Given the description of an element on the screen output the (x, y) to click on. 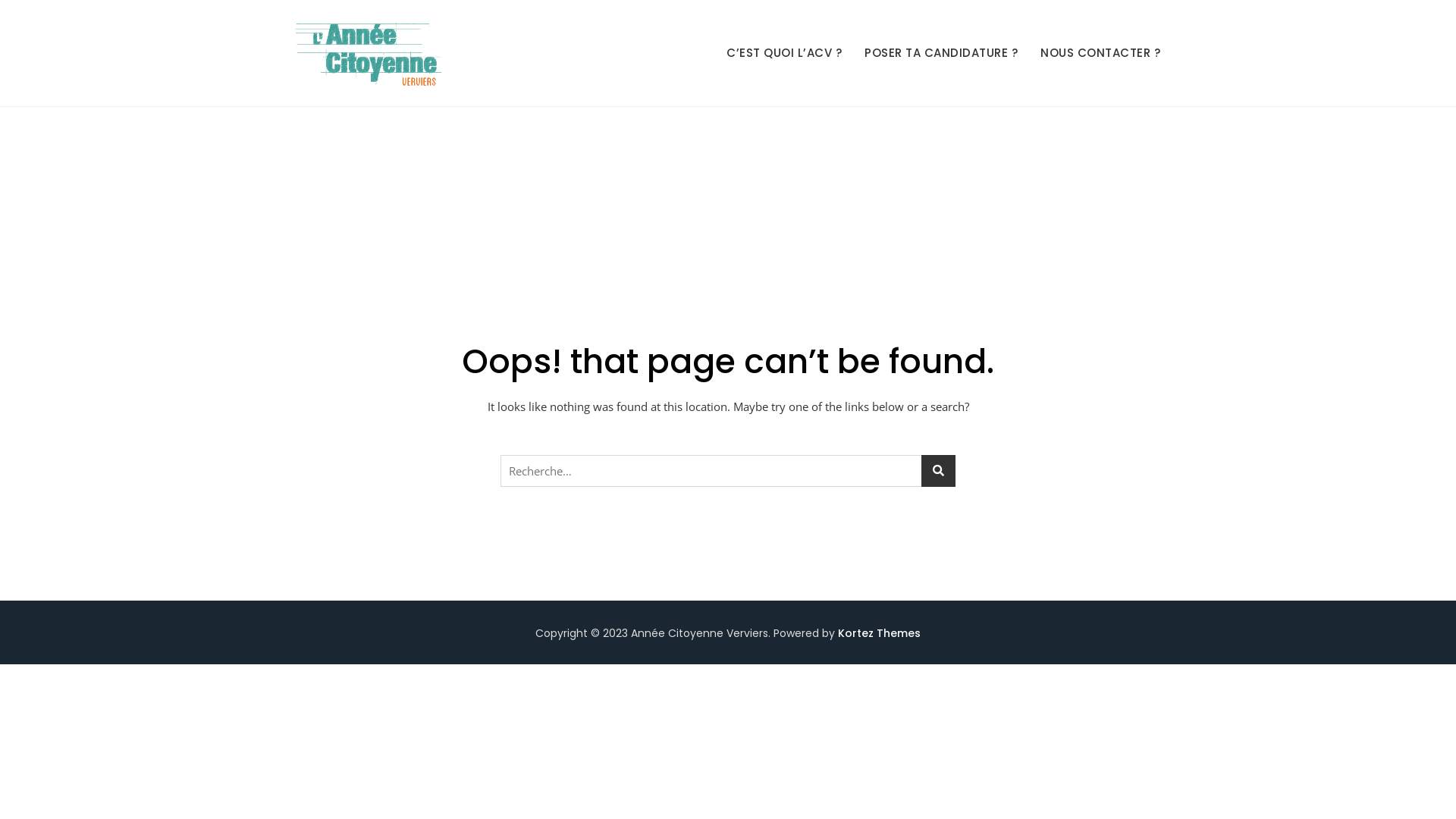
NOUS CONTACTER ? Element type: text (1100, 53)
POSER TA CANDIDATURE ? Element type: text (940, 53)
Rechercher Element type: text (227, 6)
Kortez Themes Element type: text (878, 632)
